Given the description of an element on the screen output the (x, y) to click on. 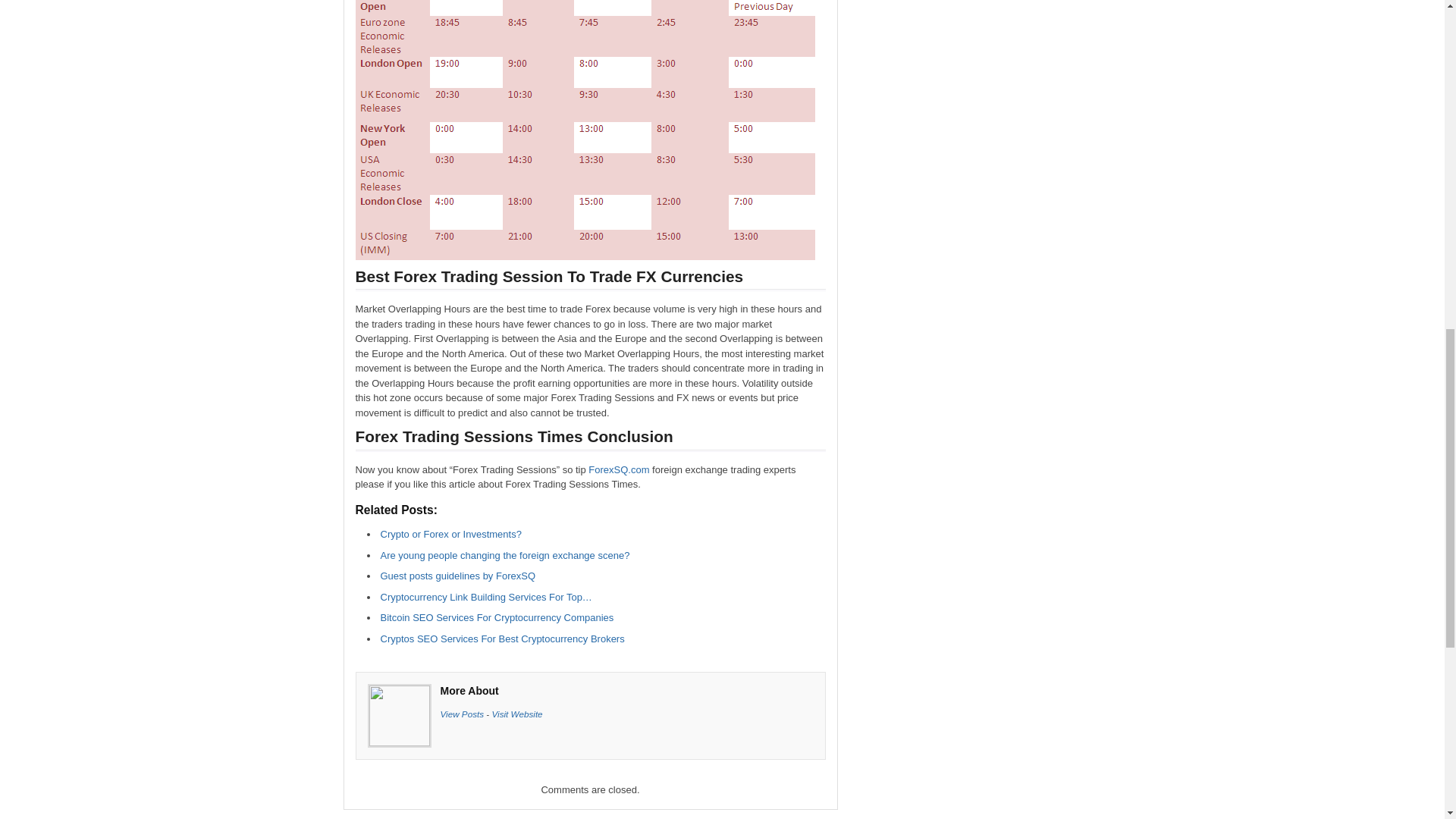
Visit Website (516, 713)
Cryptos SEO Services For Best Cryptocurrency Brokers (502, 637)
ForexSQ.com (618, 469)
Are young people changing the foreign exchange scene? (505, 554)
Bitcoin SEO Services For Cryptocurrency Companies (497, 617)
Crypto or Forex or Investments? (450, 533)
Guest posts guidelines by ForexSQ (457, 575)
View Posts (461, 713)
